Given the description of an element on the screen output the (x, y) to click on. 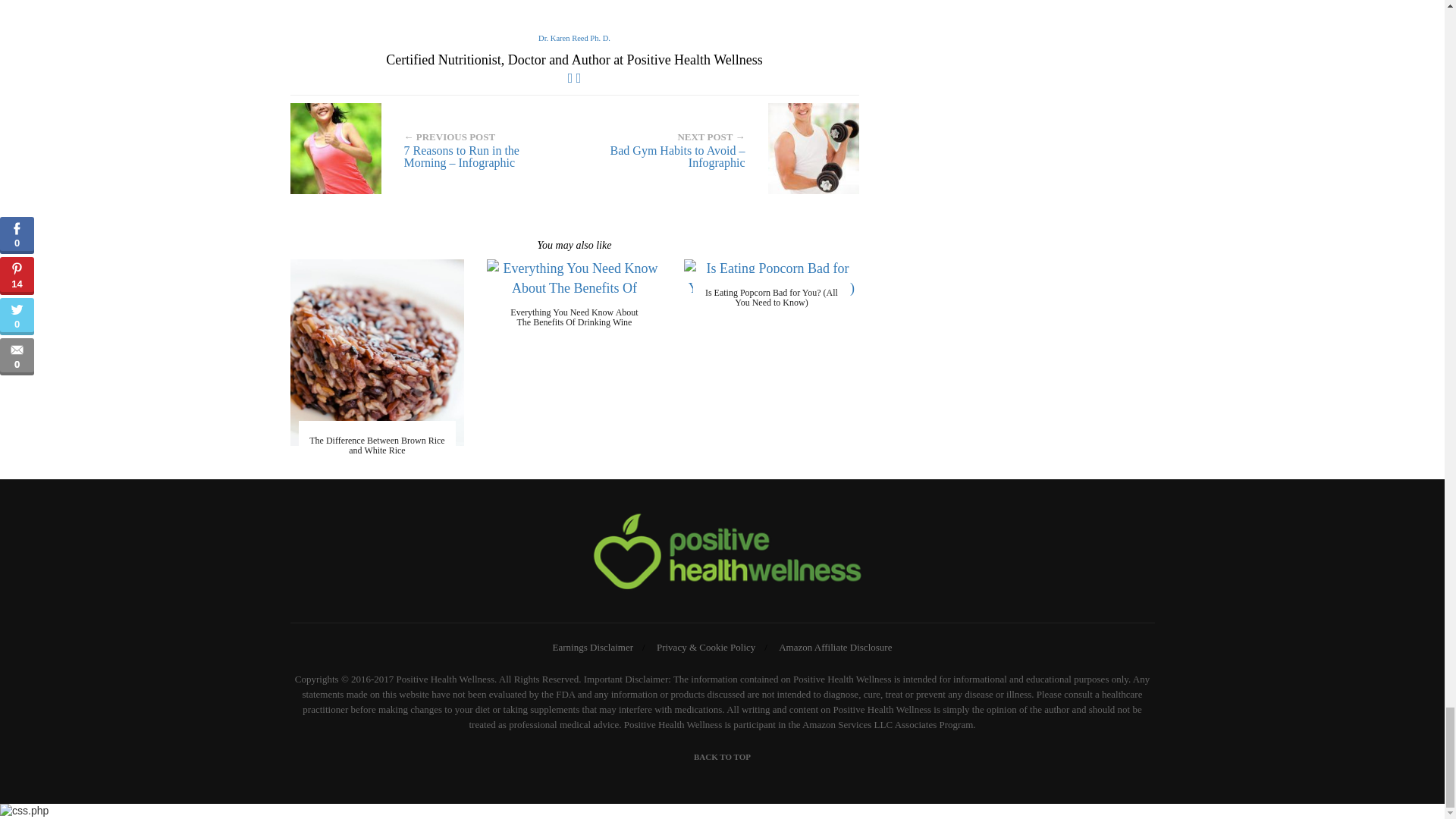
Researched and Credible Health Advice (721, 554)
Everything You Need Know About The Benefits Of Drinking Wine (574, 317)
Everything You Need Know About The Benefits Of Drinking Wine (573, 288)
The Difference Between Brown Rice and White Rice (376, 352)
The Difference Between Brown Rice and White Rice (376, 444)
Earnings Disclaimer (593, 646)
Posts by Dr. Karen Reed Ph. D. (574, 38)
Dr. Karen Reed Ph. D. (574, 38)
